Given the description of an element on the screen output the (x, y) to click on. 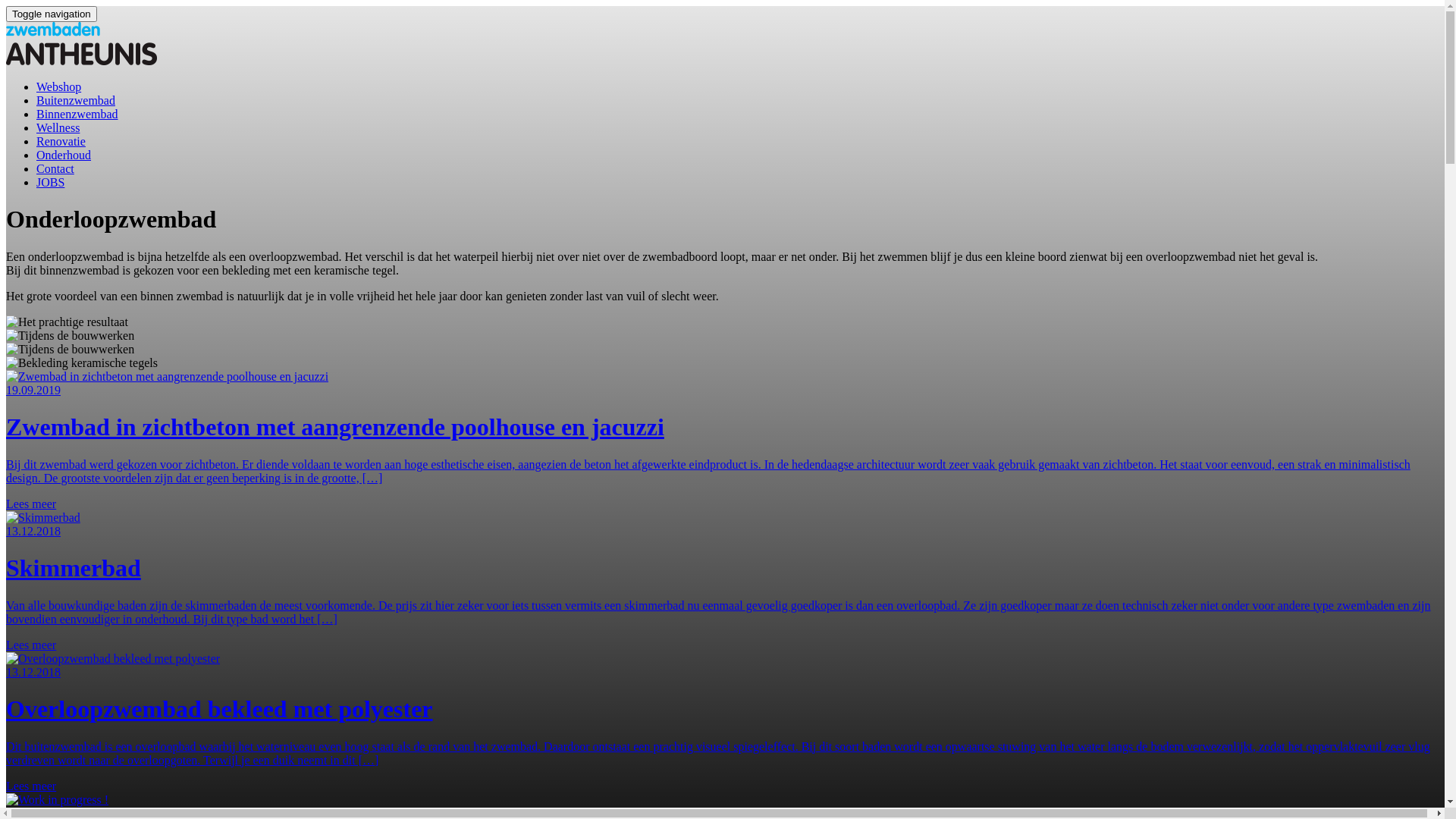
Buitenzwembad Element type: text (75, 100)
JOBS Element type: text (50, 181)
Lees meer Element type: text (31, 785)
Toggle navigation Element type: text (51, 13)
Binnenzwembad Element type: text (77, 113)
Onderhoud Element type: text (63, 154)
Webshop Element type: text (58, 86)
Lees meer Element type: text (31, 503)
Contact Element type: text (55, 168)
Lees meer Element type: text (31, 644)
Homepage Element type: hover (81, 60)
Renovatie Element type: text (60, 140)
Wellness Element type: text (57, 127)
